Given the description of an element on the screen output the (x, y) to click on. 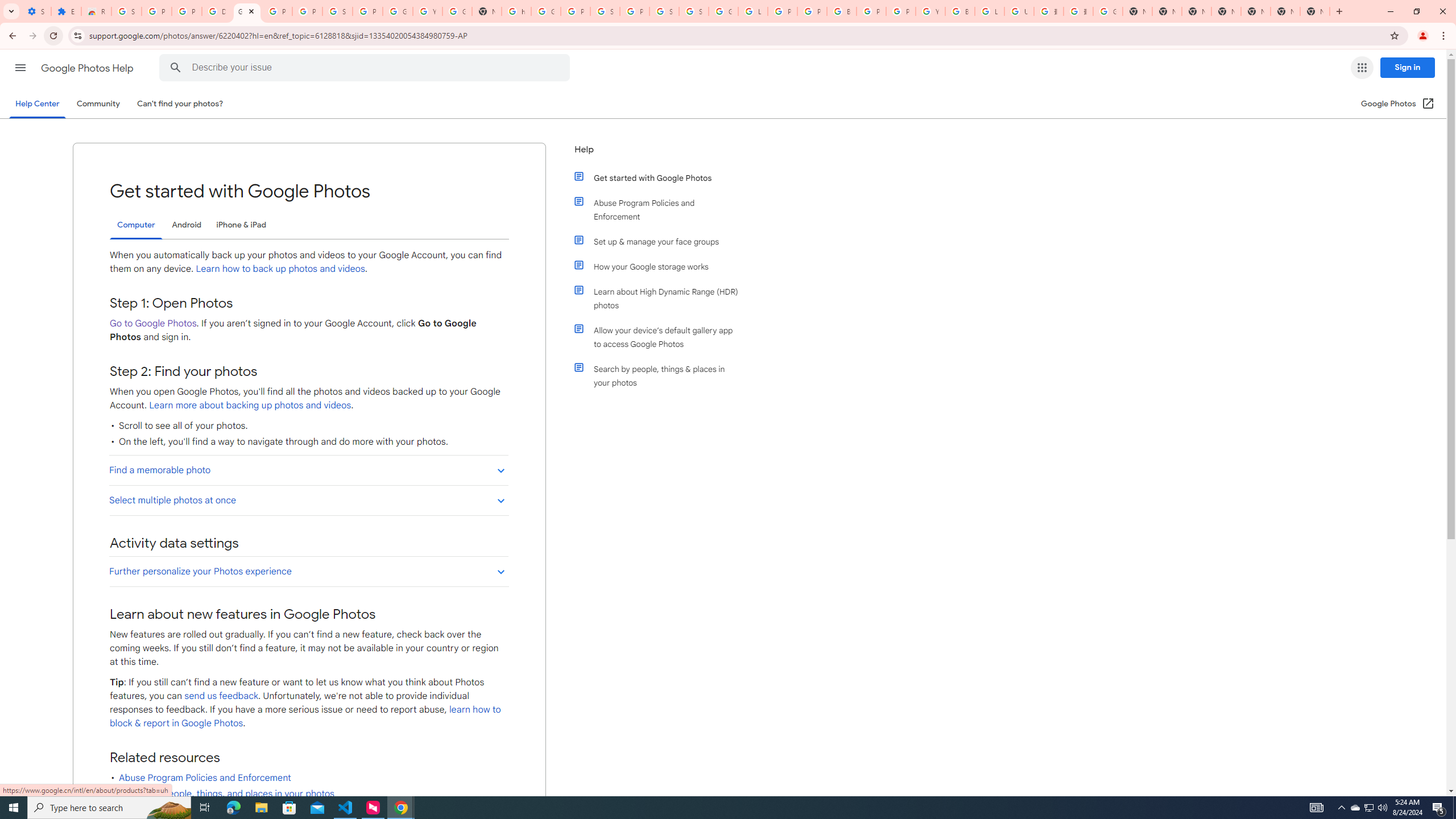
Search by people, things & places in your photos (661, 375)
Extensions (65, 11)
iPhone & iPad (240, 224)
YouTube (930, 11)
New Tab (1314, 11)
Search Help Center (176, 67)
How your Google storage works (661, 266)
Sign in - Google Accounts (664, 11)
Abuse Program Policies and Enforcement (661, 209)
Reviews: Helix Fruit Jump Arcade Game (95, 11)
Google apps (1362, 67)
